Given the description of an element on the screen output the (x, y) to click on. 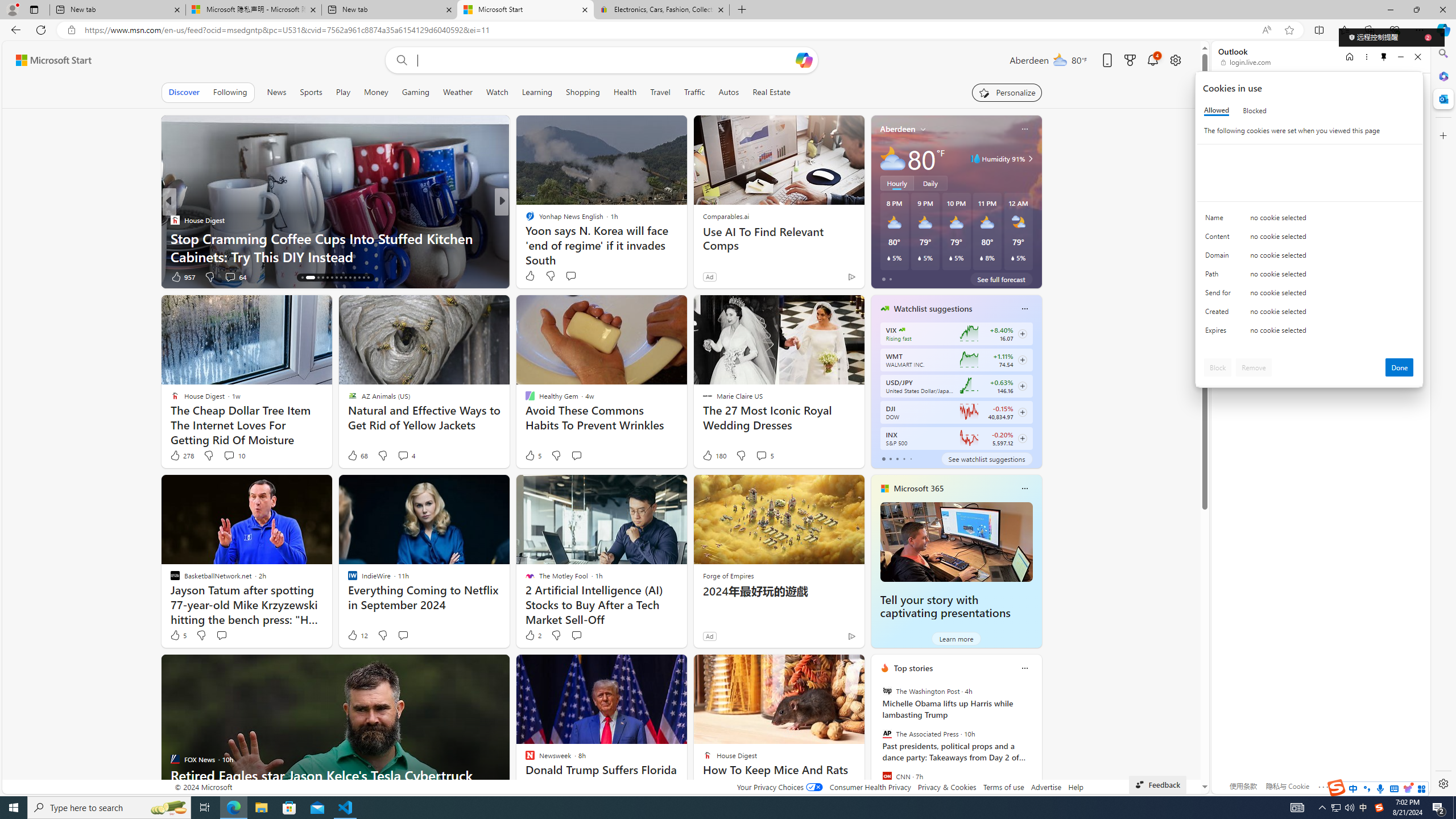
next (1035, 741)
House Digest (524, 219)
no cookie selected (1331, 332)
Allowed (1216, 110)
See full forecast (1000, 278)
Woman's World (524, 219)
461 Like (532, 276)
957 Like (182, 276)
Top stories (913, 668)
